Given the description of an element on the screen output the (x, y) to click on. 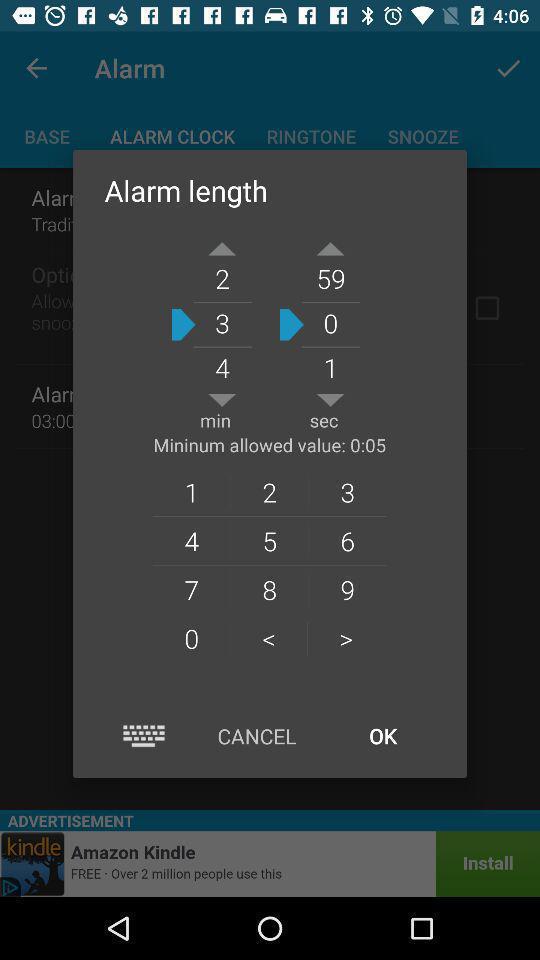
open the icon below the 1 item (269, 540)
